Given the description of an element on the screen output the (x, y) to click on. 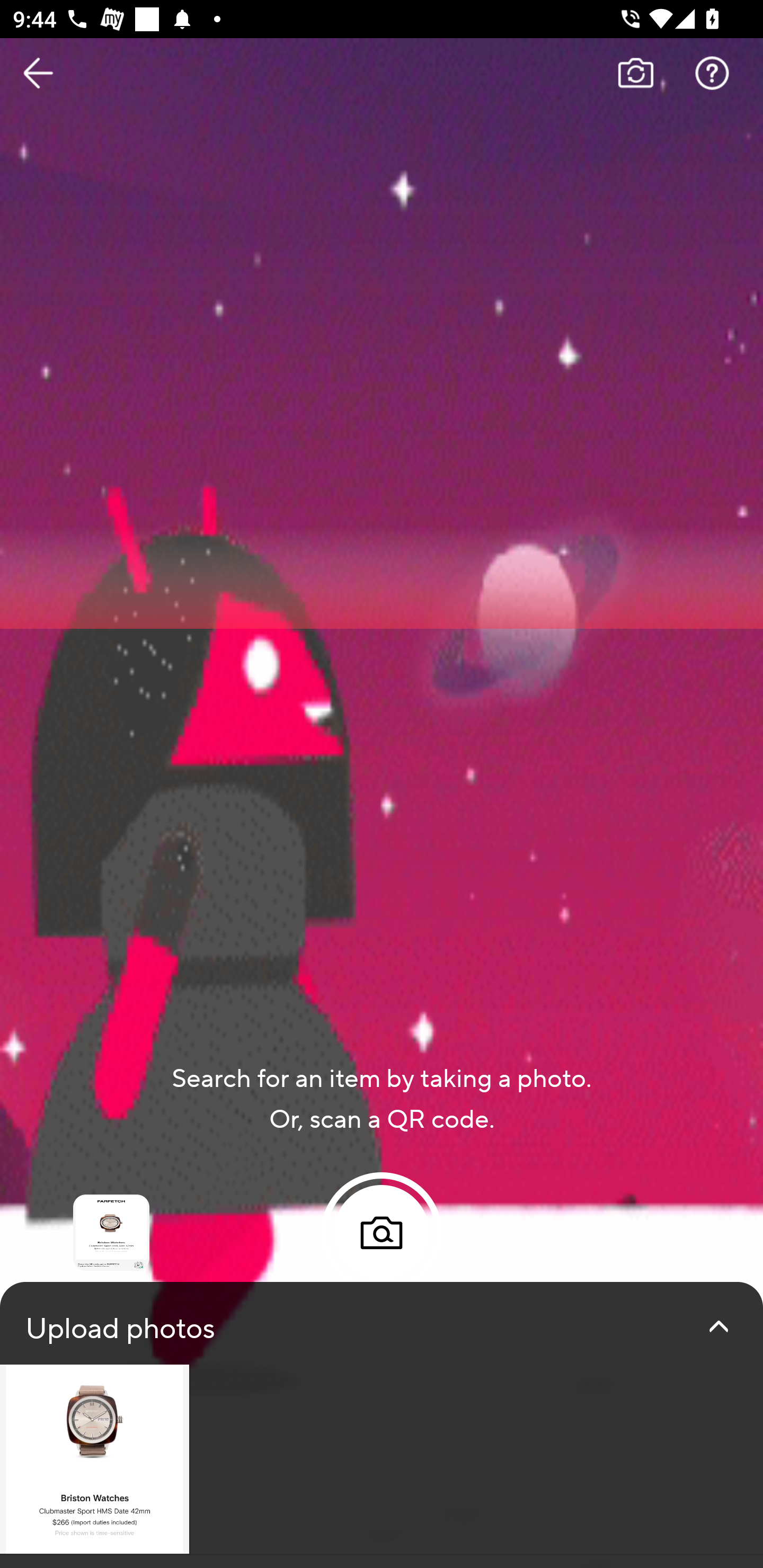
Upload photos  (381, 1425)
 (718, 1326)
